Given the description of an element on the screen output the (x, y) to click on. 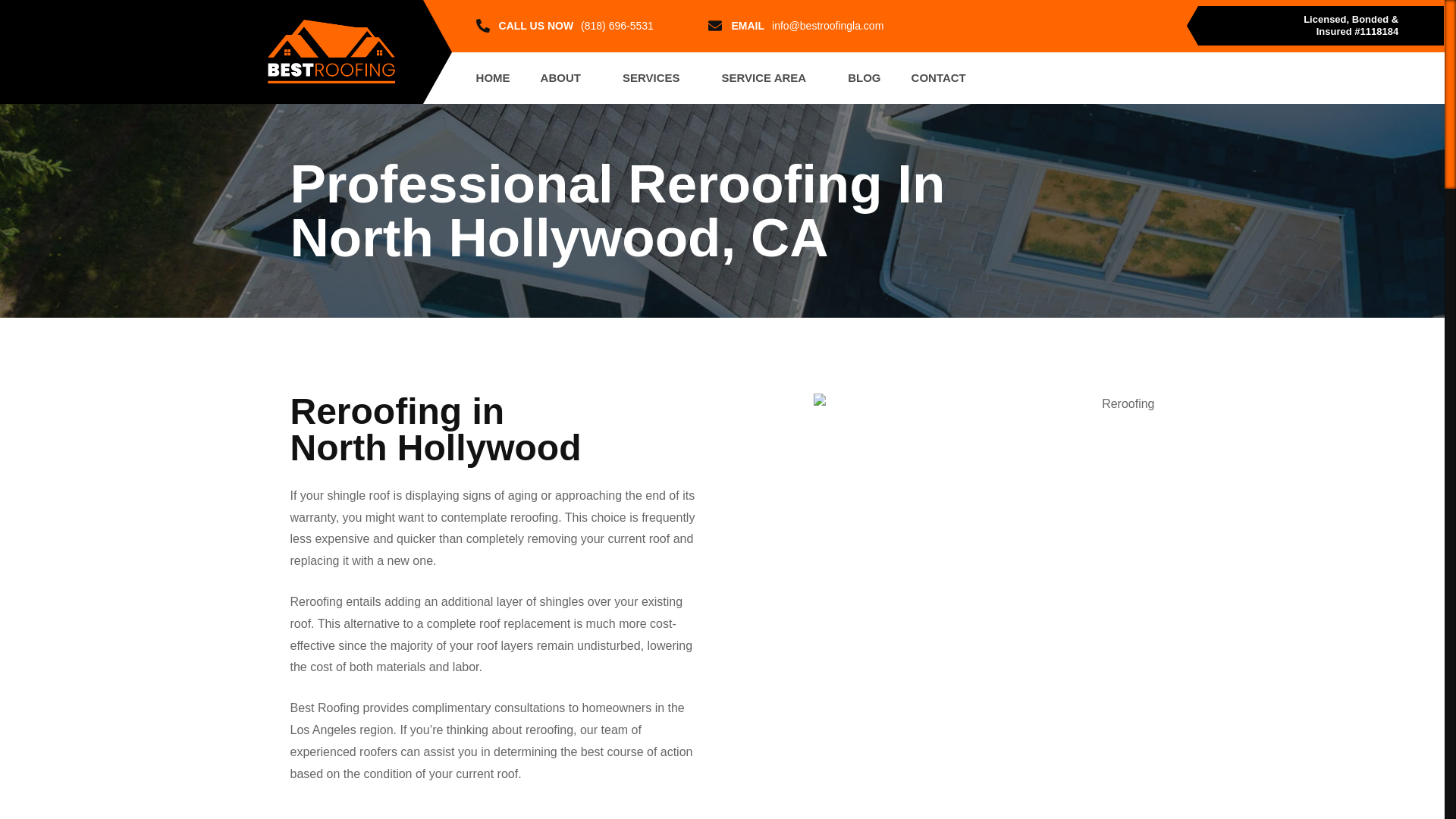
HOME (493, 78)
CONTACT (938, 78)
BLOG (863, 78)
ABOUT (566, 78)
SERVICE AREA (769, 78)
SERVICES (656, 78)
